Given the description of an element on the screen output the (x, y) to click on. 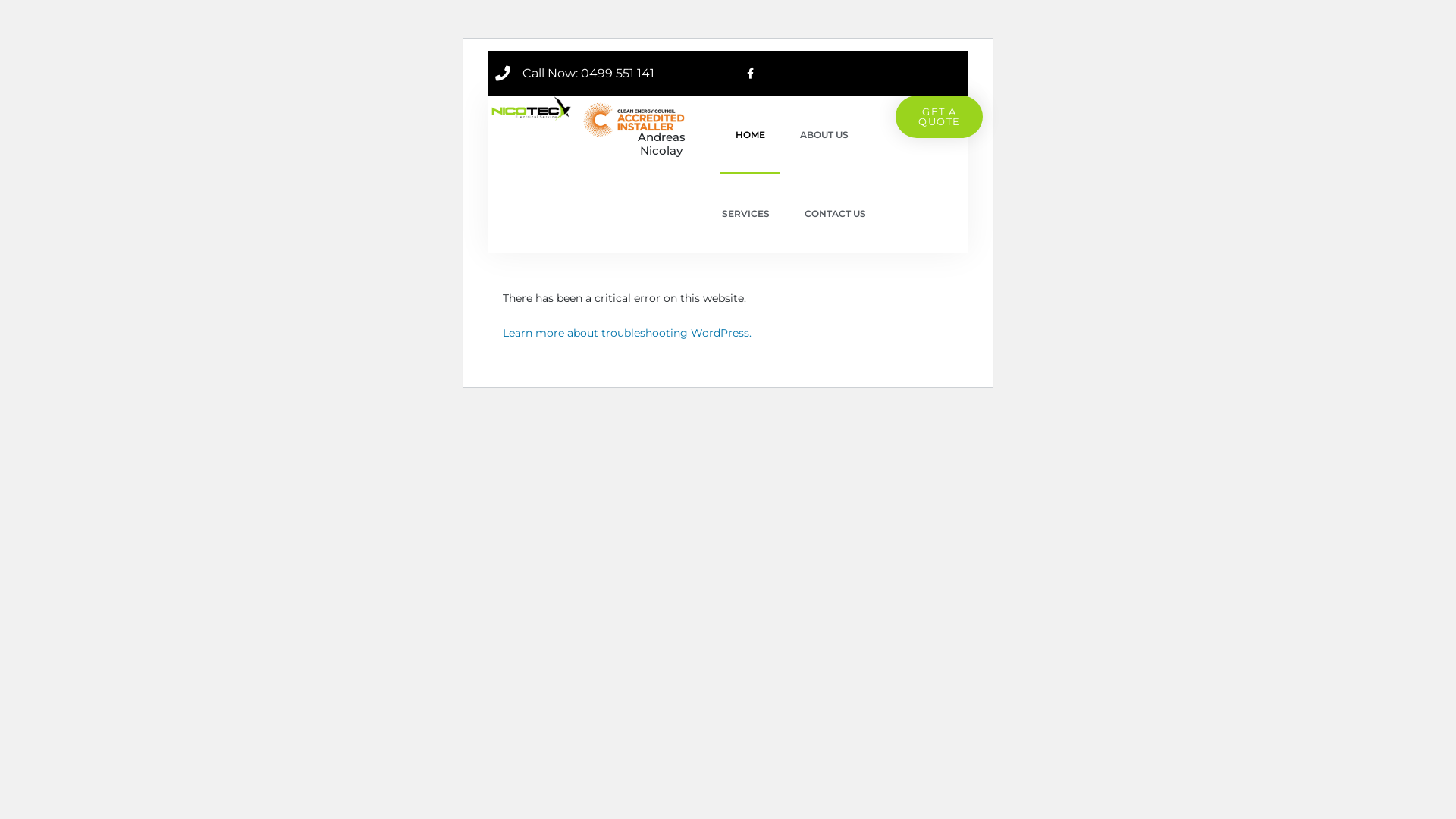
Learn more about troubleshooting WordPress. Element type: text (626, 332)
HOME Element type: text (750, 134)
CONTACT US Element type: text (835, 213)
GET A QUOTE Element type: text (938, 116)
SERVICES Element type: text (745, 213)
Call Now: 0499 551 141 Element type: text (574, 72)
ABOUT US Element type: text (823, 134)
